Given the description of an element on the screen output the (x, y) to click on. 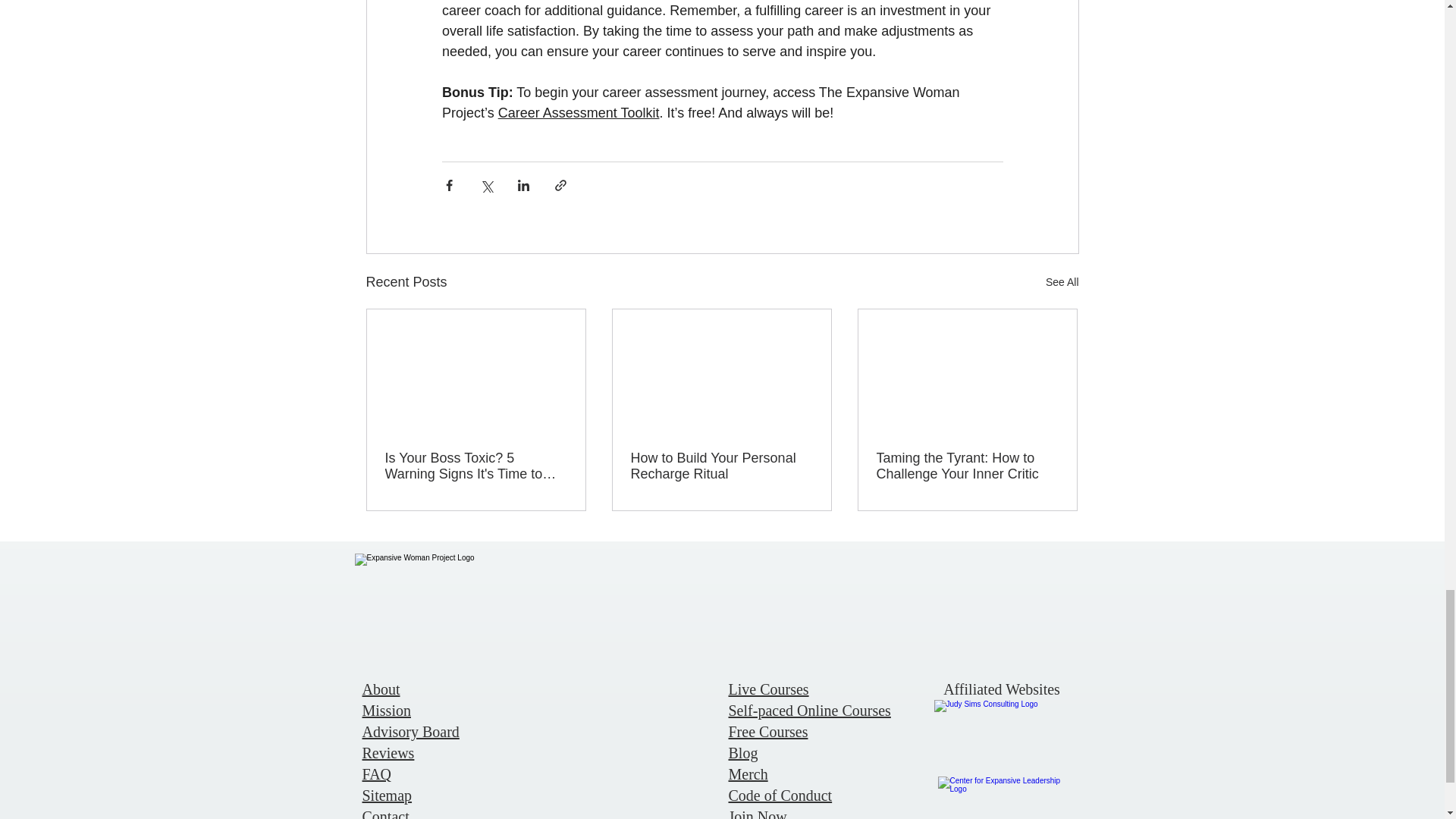
Taming the Tyrant: How to Challenge Your Inner Critic (967, 466)
Join Now (757, 813)
Sitemap (387, 795)
Career Assessment Toolkit (578, 112)
Live Courses (768, 688)
Advisory Board (411, 731)
Free Courses (768, 731)
Code of Conduct (779, 795)
Self-paced Online Courses (808, 710)
